Given the description of an element on the screen output the (x, y) to click on. 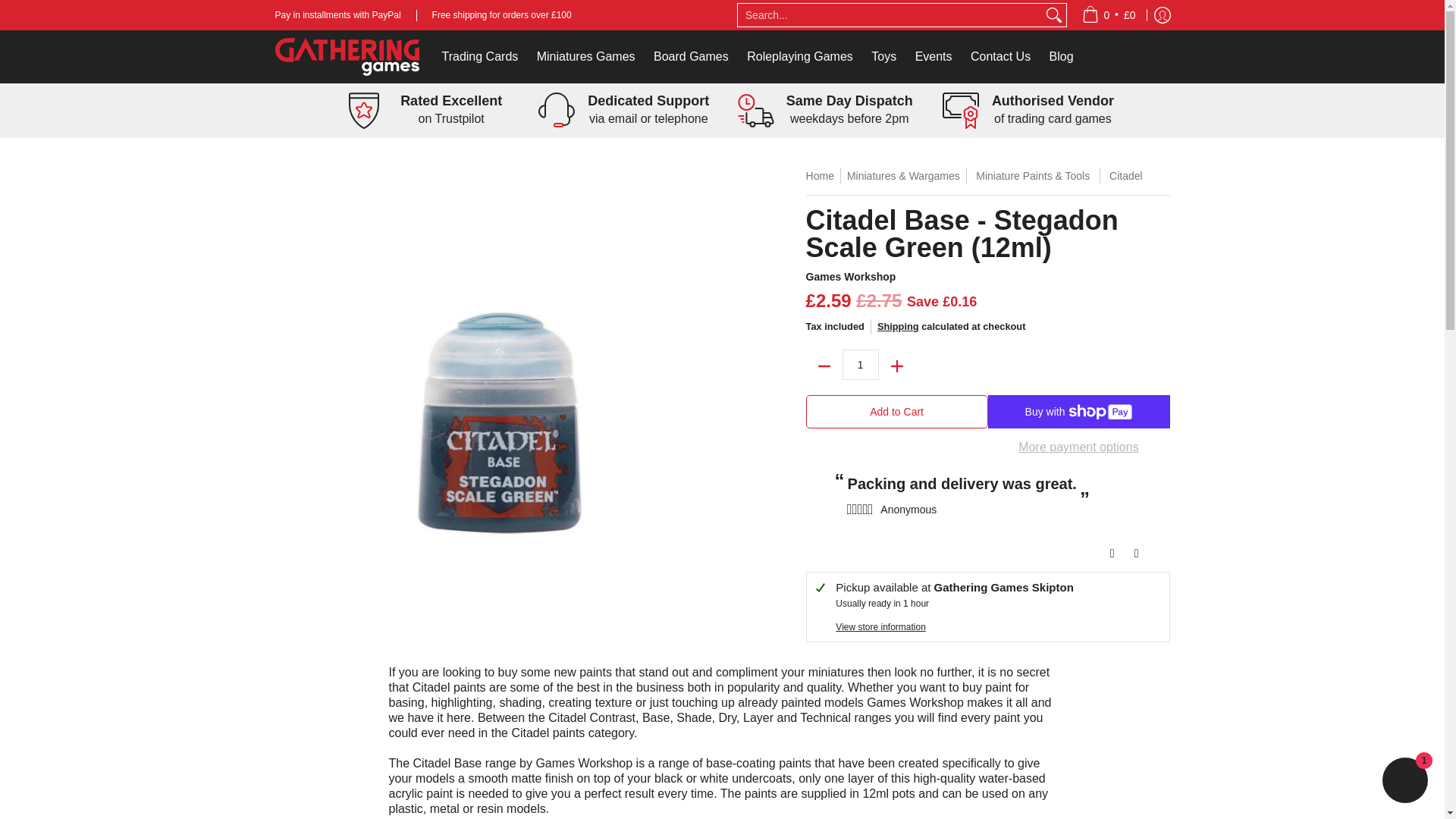
Log in (1161, 15)
1 (861, 364)
Trading Cards (479, 56)
Cart (1108, 15)
Gathering Games (347, 56)
Trading Cards (479, 56)
